Given the description of an element on the screen output the (x, y) to click on. 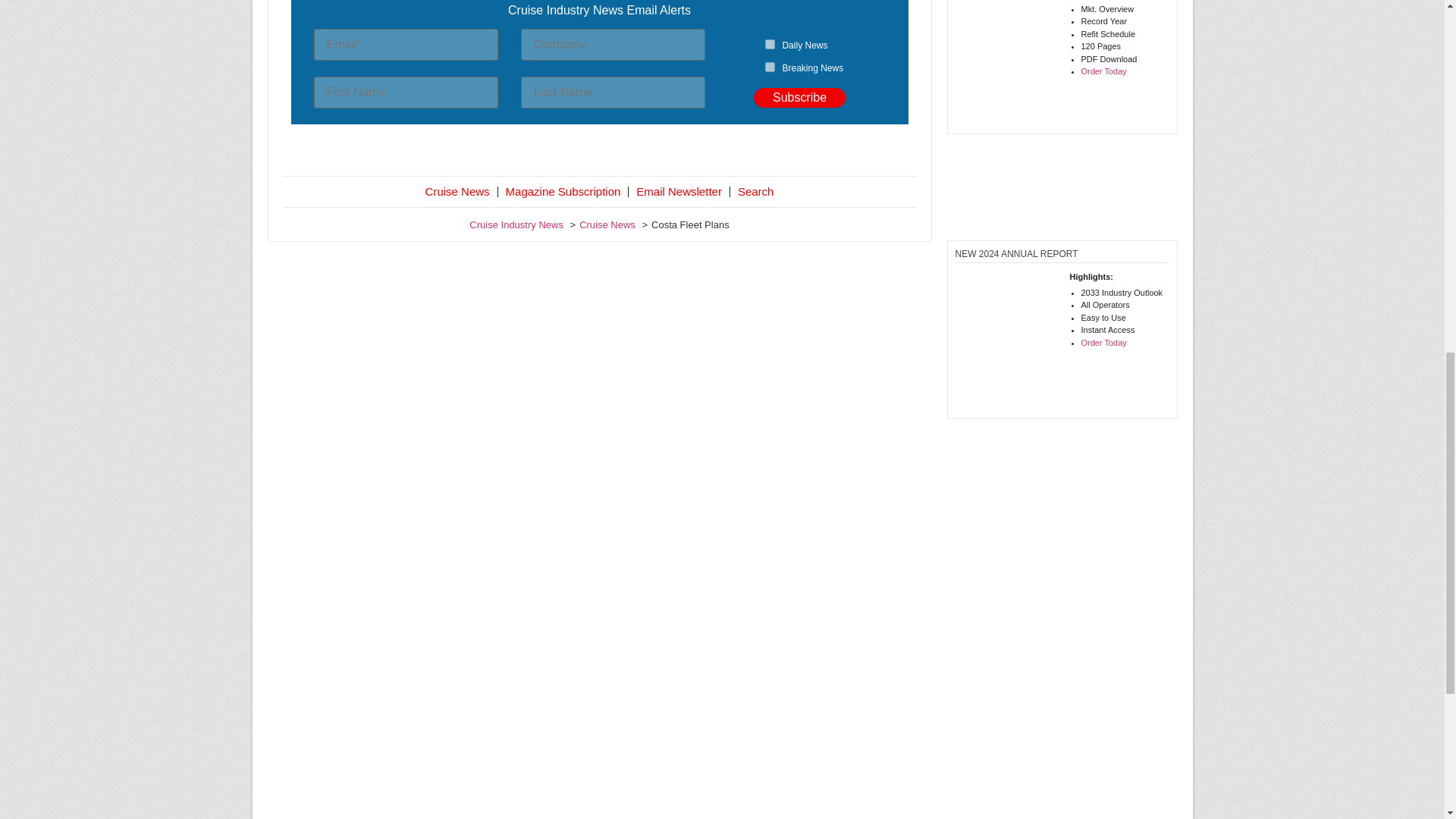
Subscribe (799, 97)
2 (769, 67)
1 (769, 44)
